Given the description of an element on the screen output the (x, y) to click on. 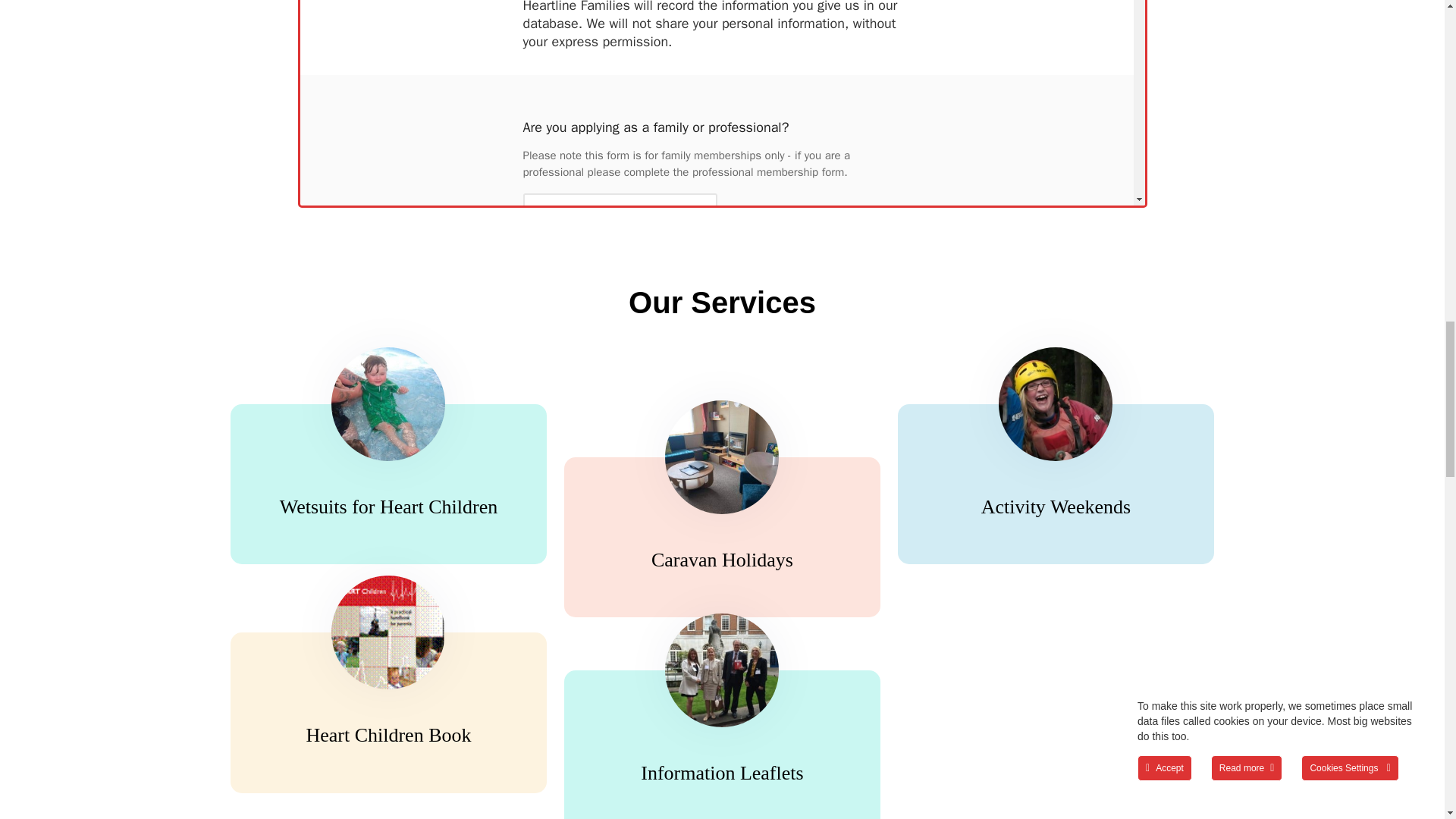
Caravan Holidays (721, 559)
Information Leaflets (721, 772)
Heart Children Book (387, 734)
Activity Weekends (1056, 506)
Wetsuits for Heart Children (388, 506)
